Given the description of an element on the screen output the (x, y) to click on. 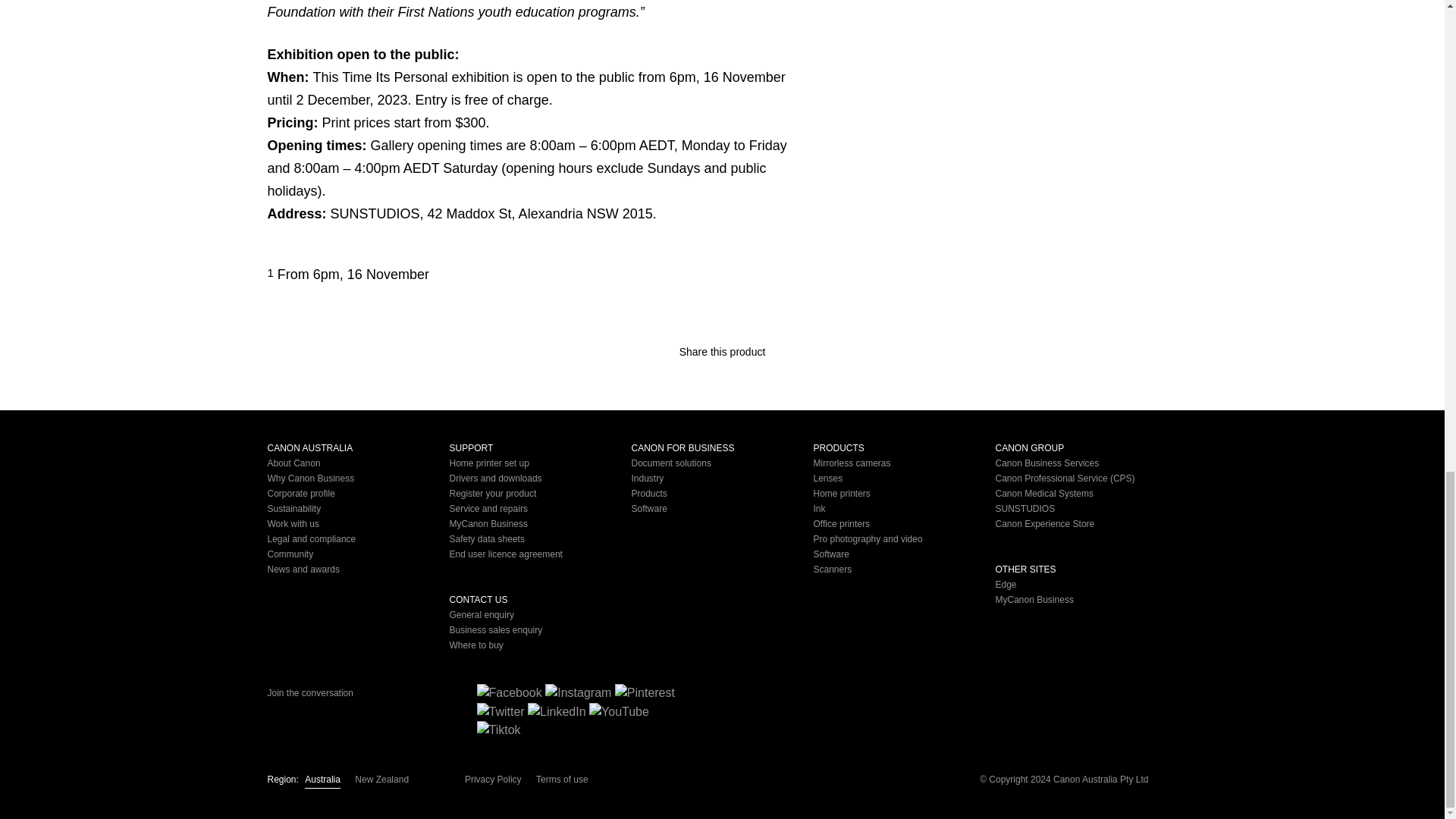
Follow on Facebook (508, 692)
Follow on Twitter (500, 711)
Follow on Instagram (577, 692)
Follow on LinkedIn (556, 711)
Follow on Pinterest (644, 692)
